Given the description of an element on the screen output the (x, y) to click on. 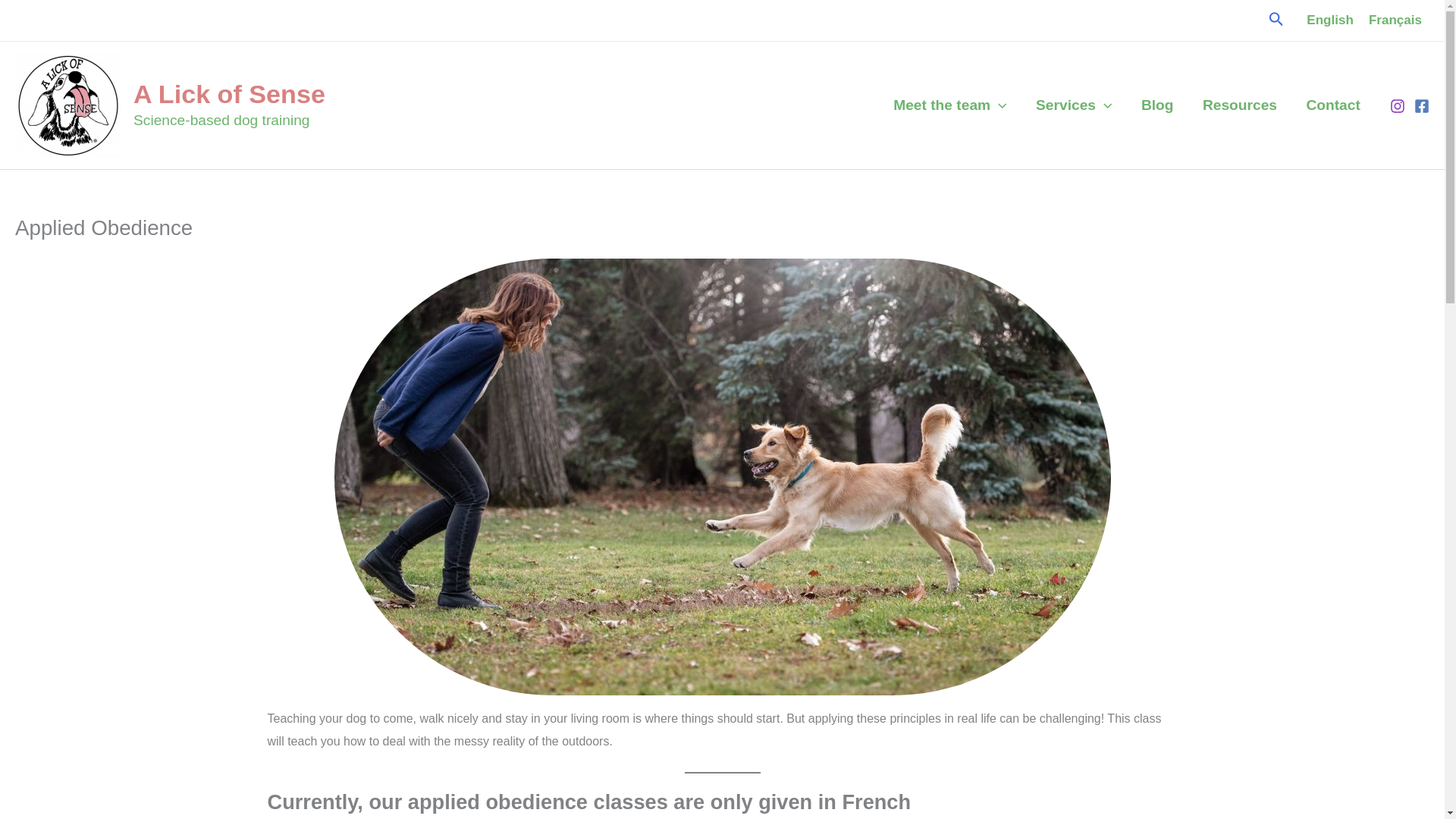
Blog (1157, 105)
Meet the team (950, 105)
Services (1074, 105)
English (1329, 20)
Resources (1240, 105)
A Lick of Sense (228, 93)
Contact (1332, 105)
